Given the description of an element on the screen output the (x, y) to click on. 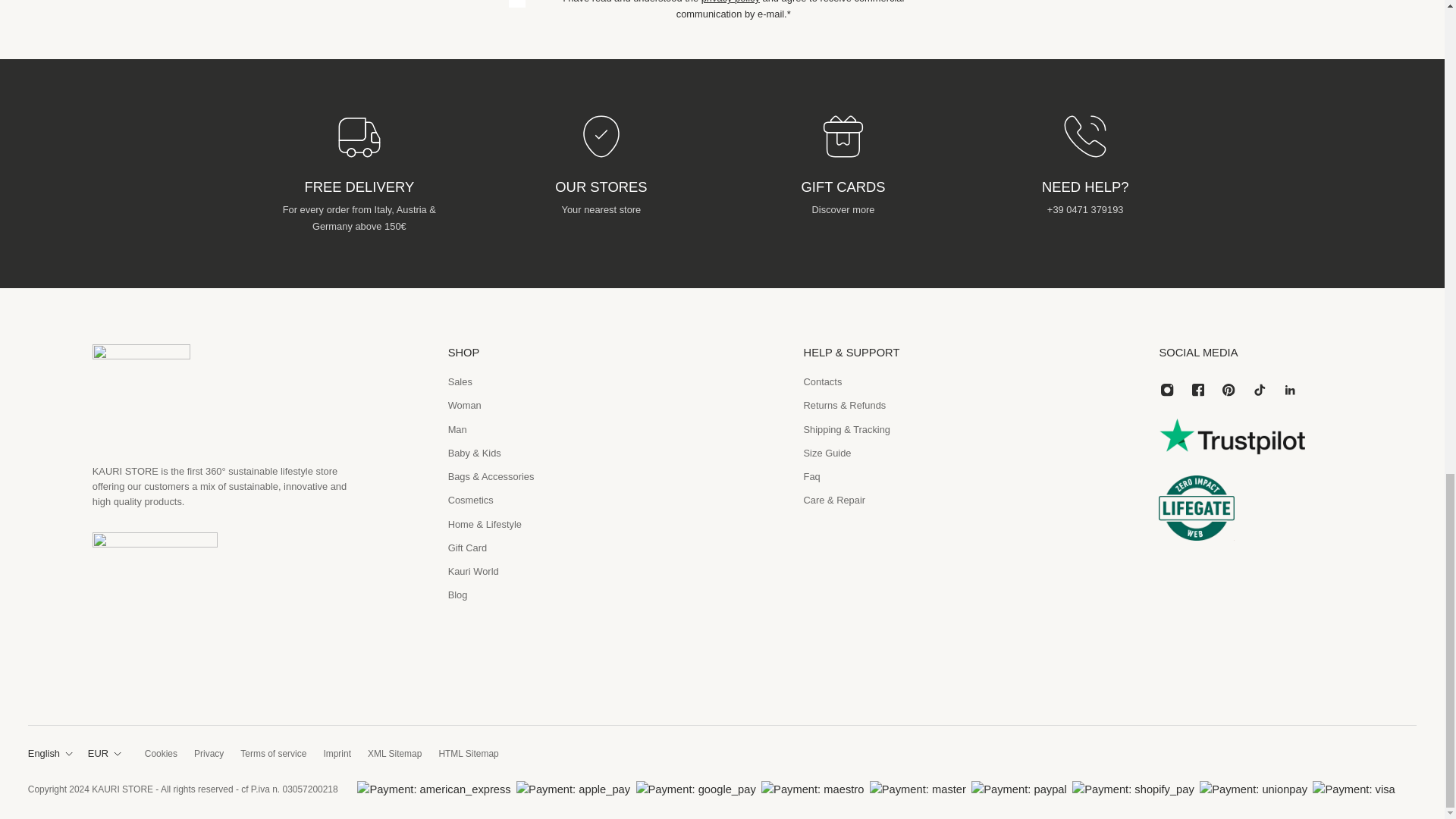
privacy policy (730, 2)
